Given the description of an element on the screen output the (x, y) to click on. 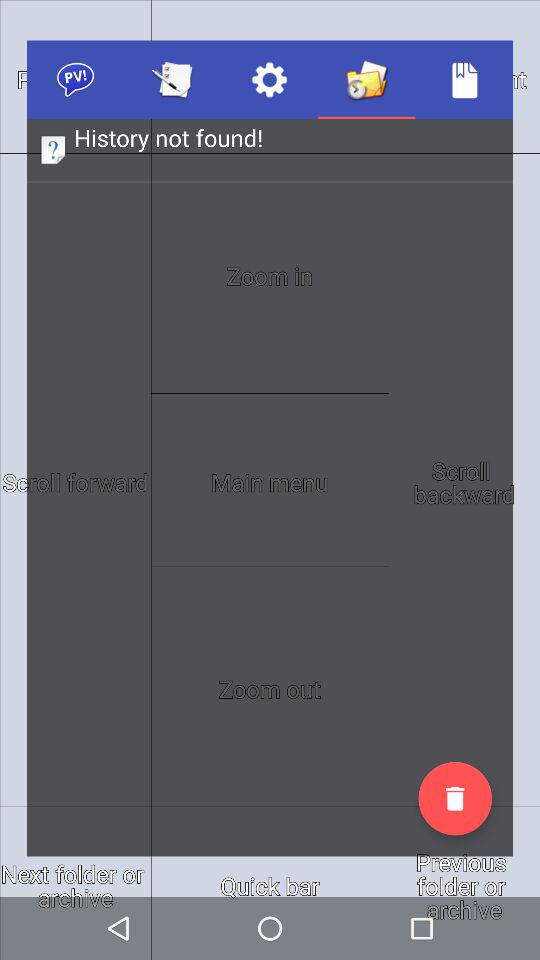
delete (455, 798)
